Given the description of an element on the screen output the (x, y) to click on. 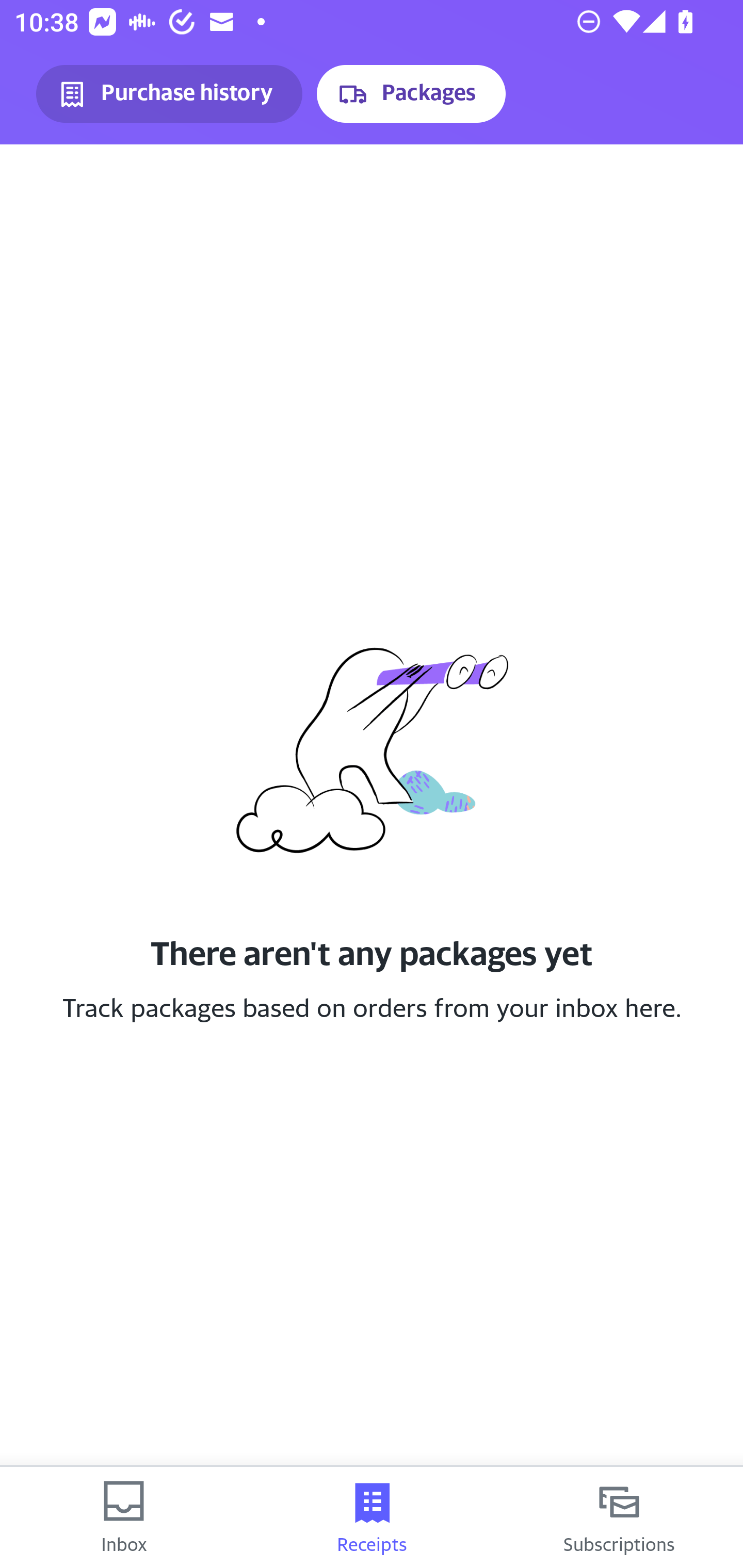
Purchase history (169, 93)
Inbox (123, 1517)
Receipts (371, 1517)
Subscriptions (619, 1517)
